Given the description of an element on the screen output the (x, y) to click on. 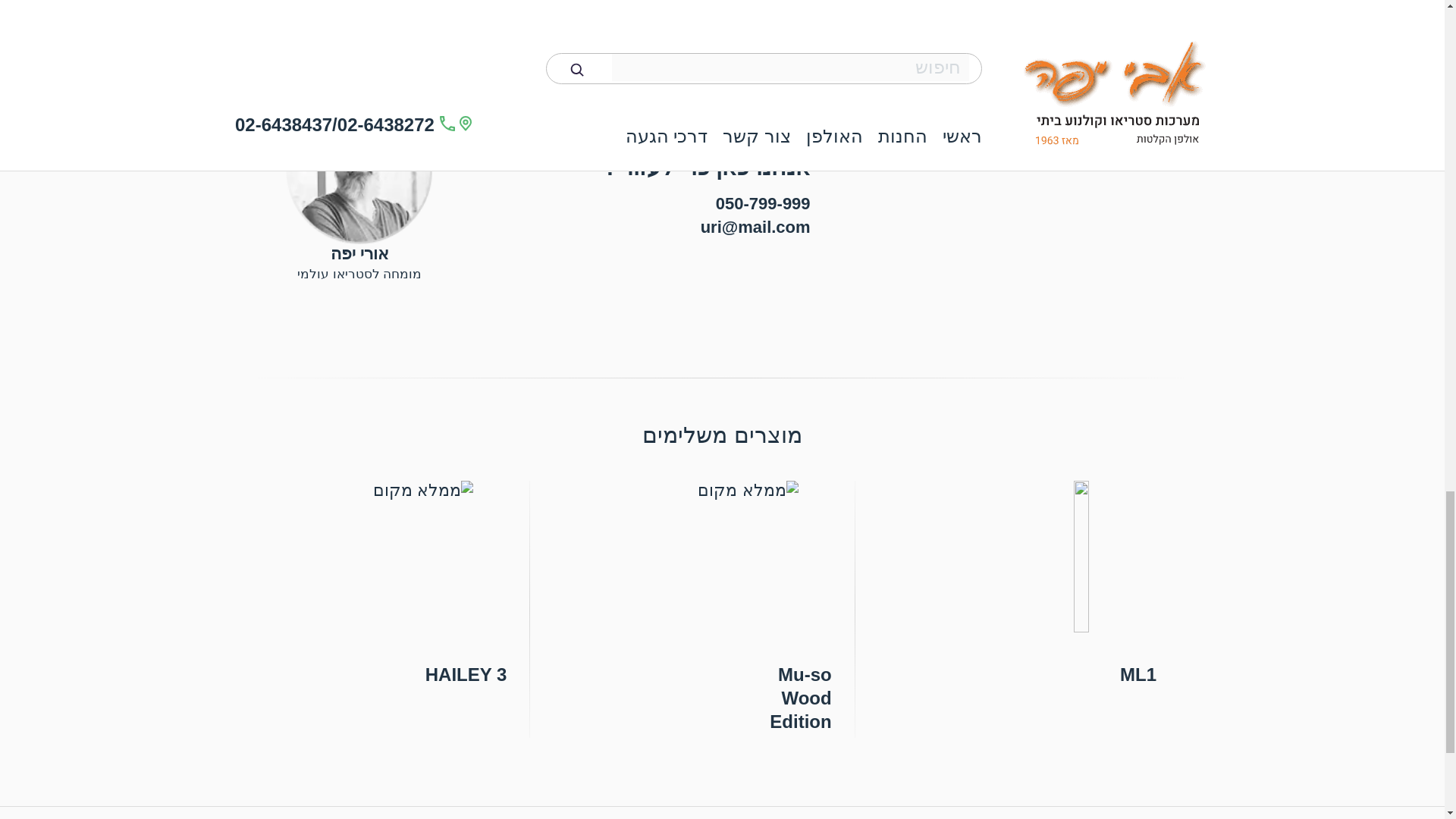
HAILEY 3 (397, 585)
ML1 (1047, 585)
Mu-so Wood Edition (721, 608)
050-799-999 (763, 203)
